Given the description of an element on the screen output the (x, y) to click on. 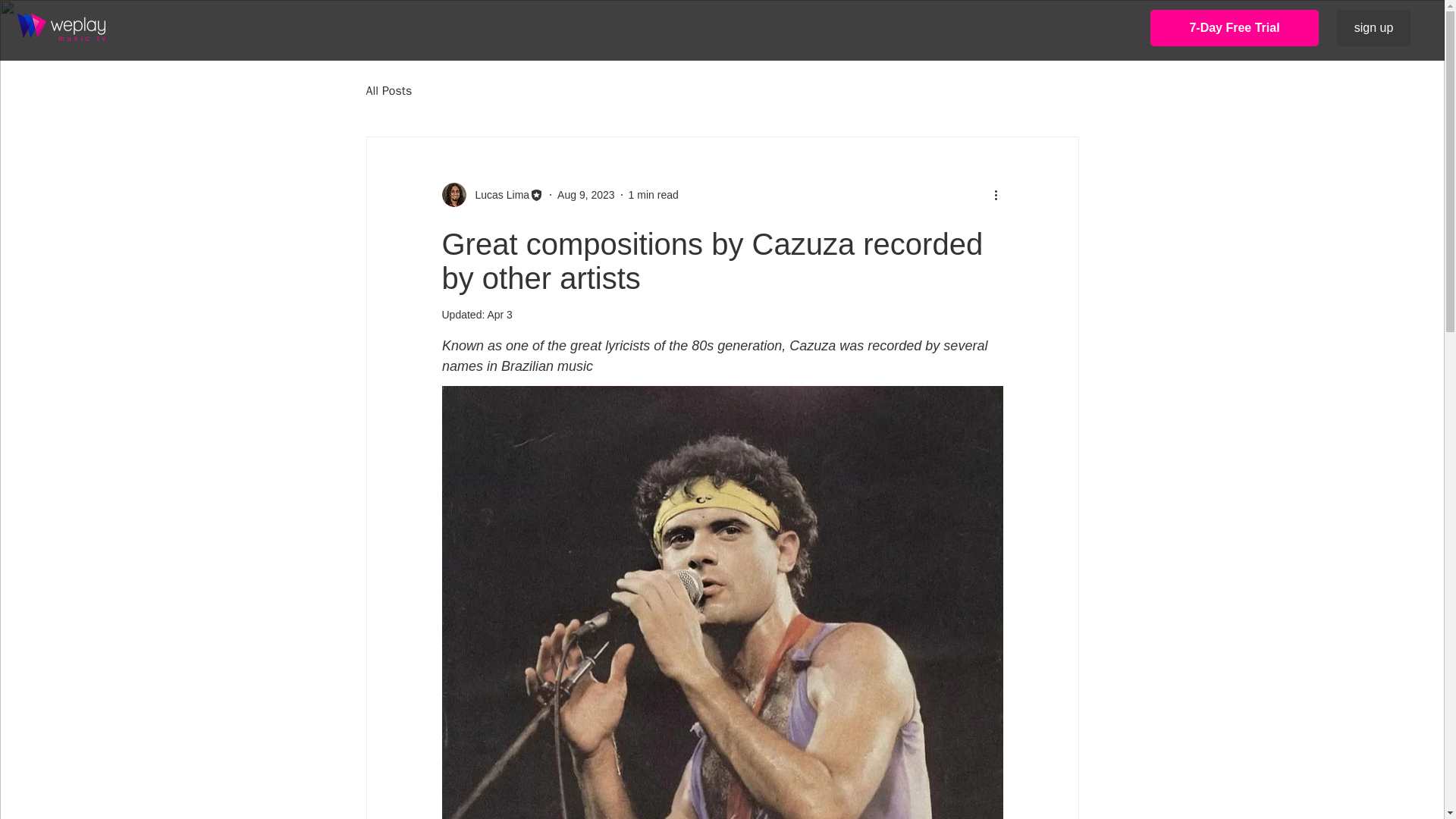
All Posts (388, 91)
Aug 9, 2023 (585, 193)
Lucas Lima (497, 194)
7-Day Free Trial (1234, 27)
1 min read (653, 193)
Apr 3 (499, 314)
sign up (1373, 27)
